Given the description of an element on the screen output the (x, y) to click on. 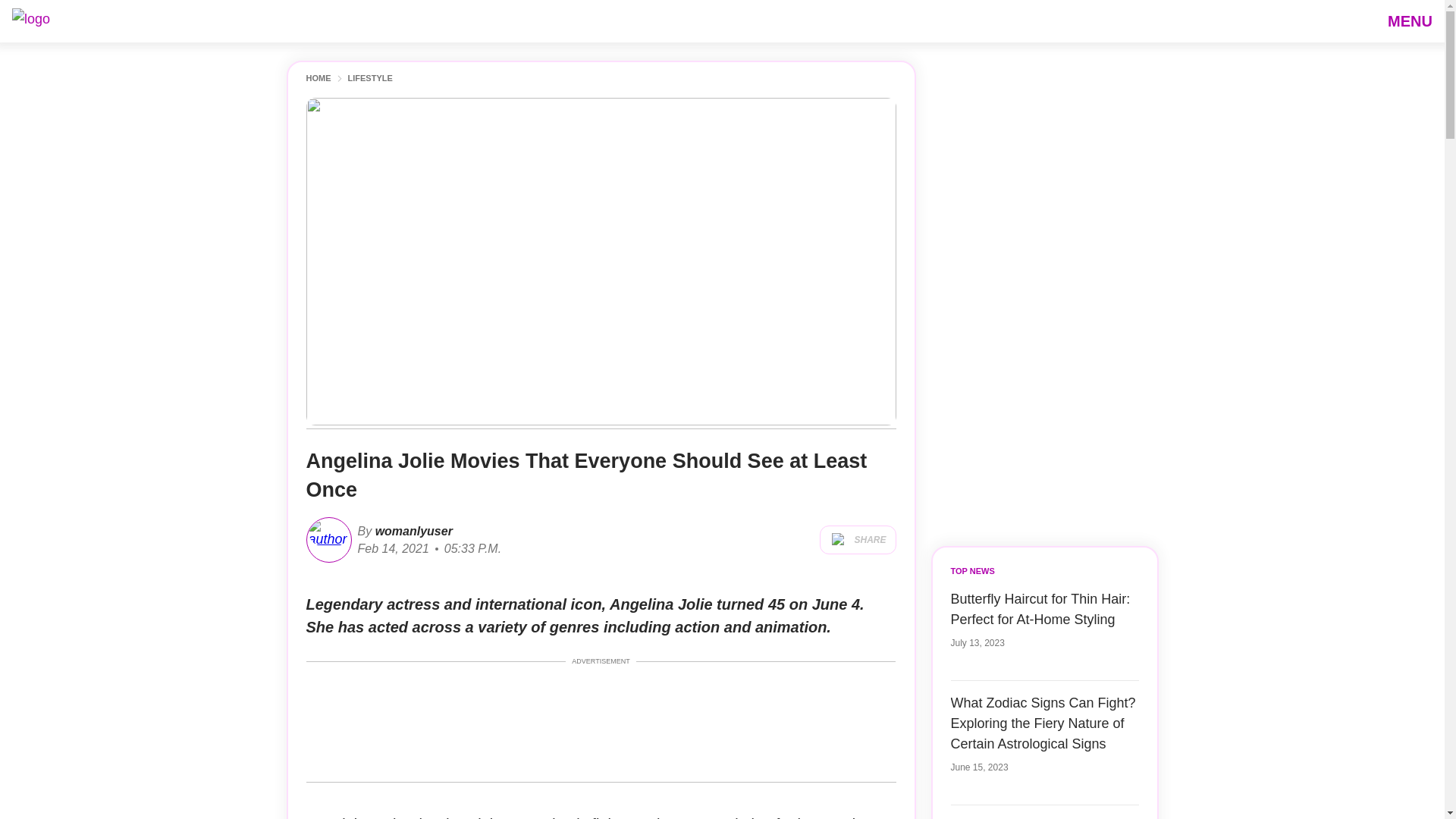
HOME (318, 78)
SHARE (857, 539)
womanlyuser (411, 530)
LIFESTYLE (369, 78)
MENU (1409, 20)
